Given the description of an element on the screen output the (x, y) to click on. 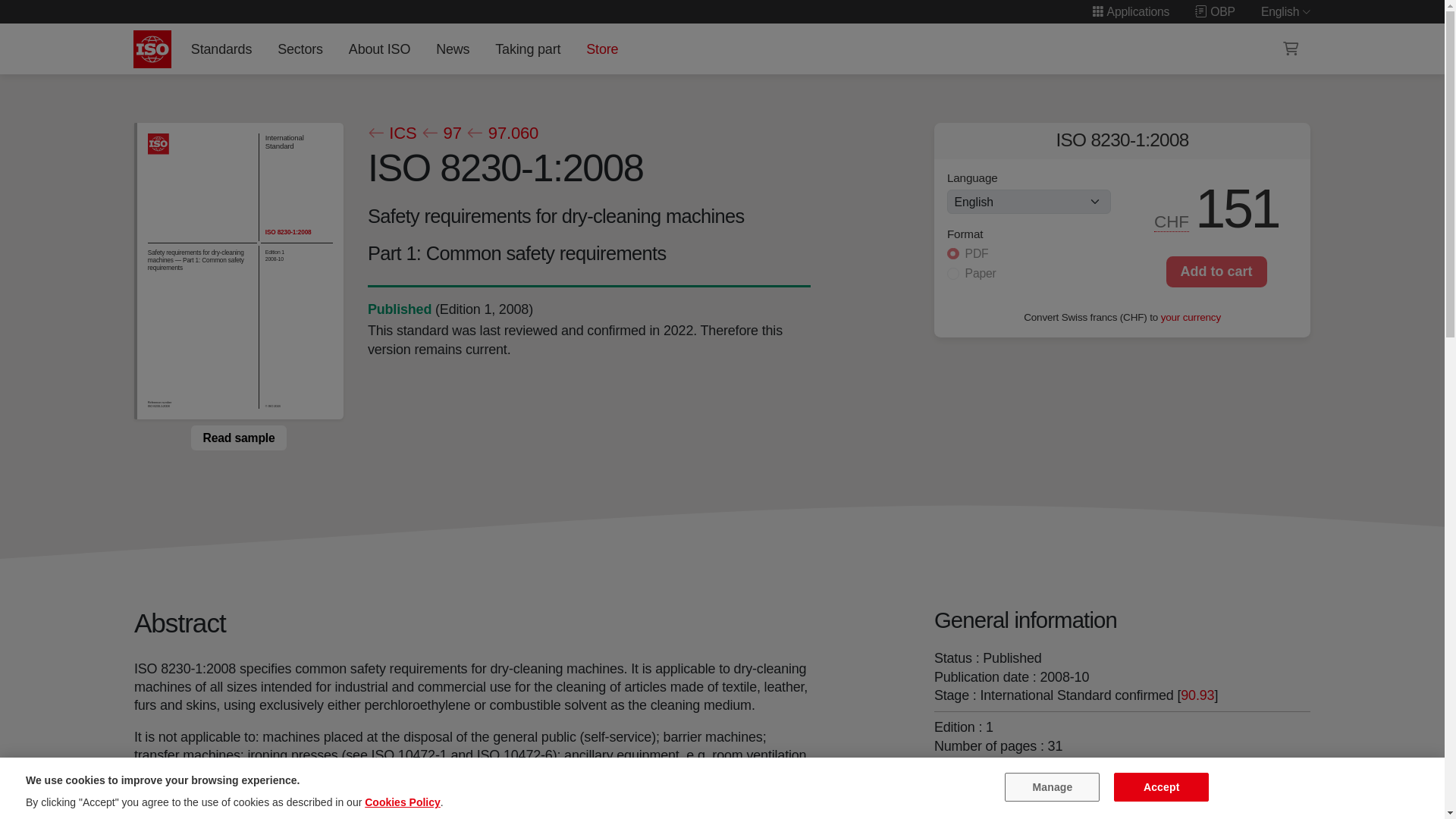
ISO's applications portal (1130, 11)
Laundry appliances (988, 795)
News (452, 48)
Taking part (528, 48)
Standards (220, 48)
your currency (1190, 316)
Add to cart (1216, 271)
Published (398, 309)
97 (441, 133)
Read sample (237, 437)
Life cycle (398, 309)
Shopping cart (1290, 49)
Textile machinery and accessories (1100, 777)
